Given the description of an element on the screen output the (x, y) to click on. 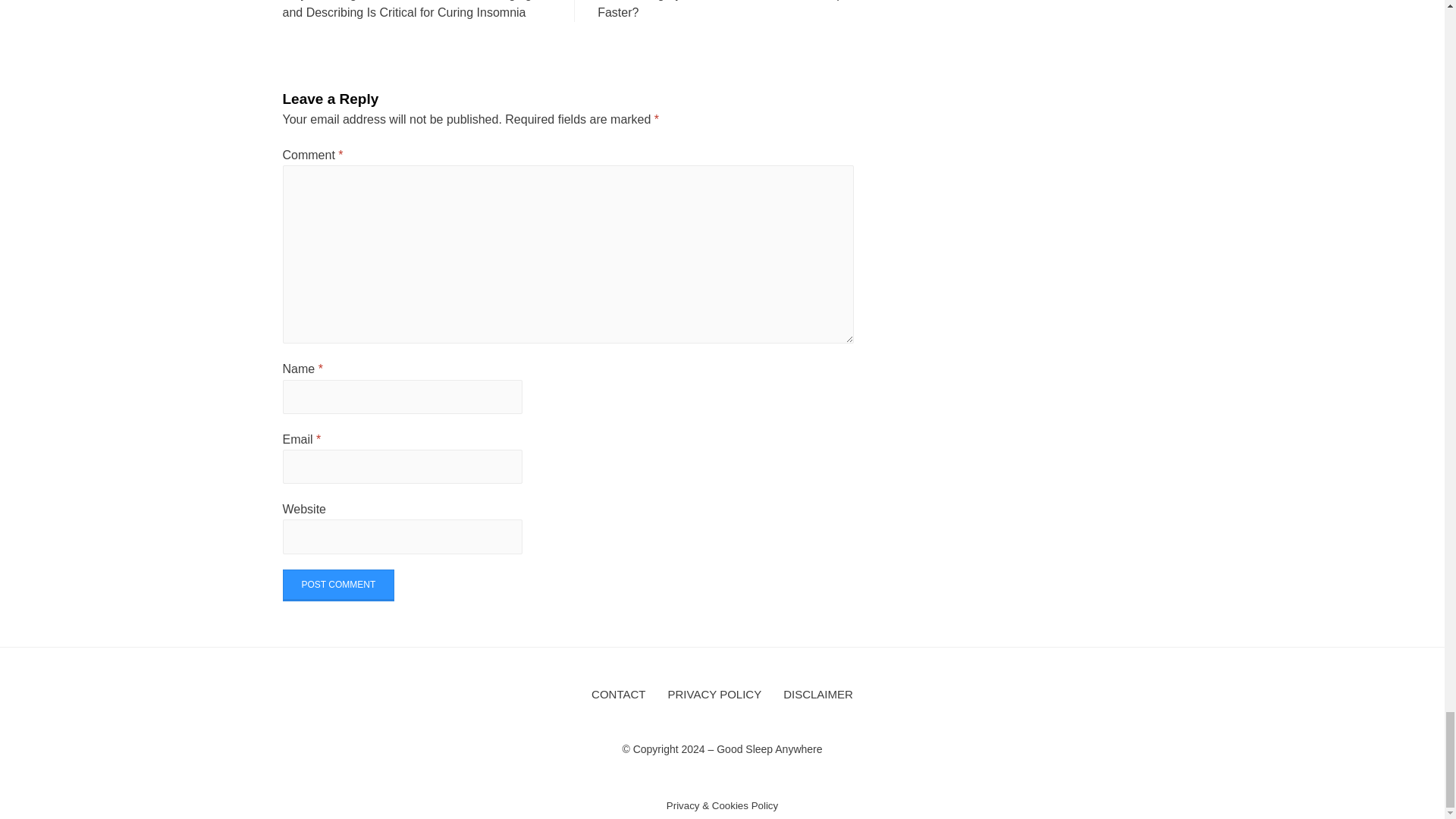
Magazine WordPress Themes (320, 769)
CONTACT (617, 694)
DISCLAIMER (817, 694)
Magazine WordPress Themes (320, 769)
Post Comment (338, 585)
PRIVACY POLICY (715, 694)
Post Comment (338, 585)
Good Sleep Anywhere (769, 748)
